Given the description of an element on the screen output the (x, y) to click on. 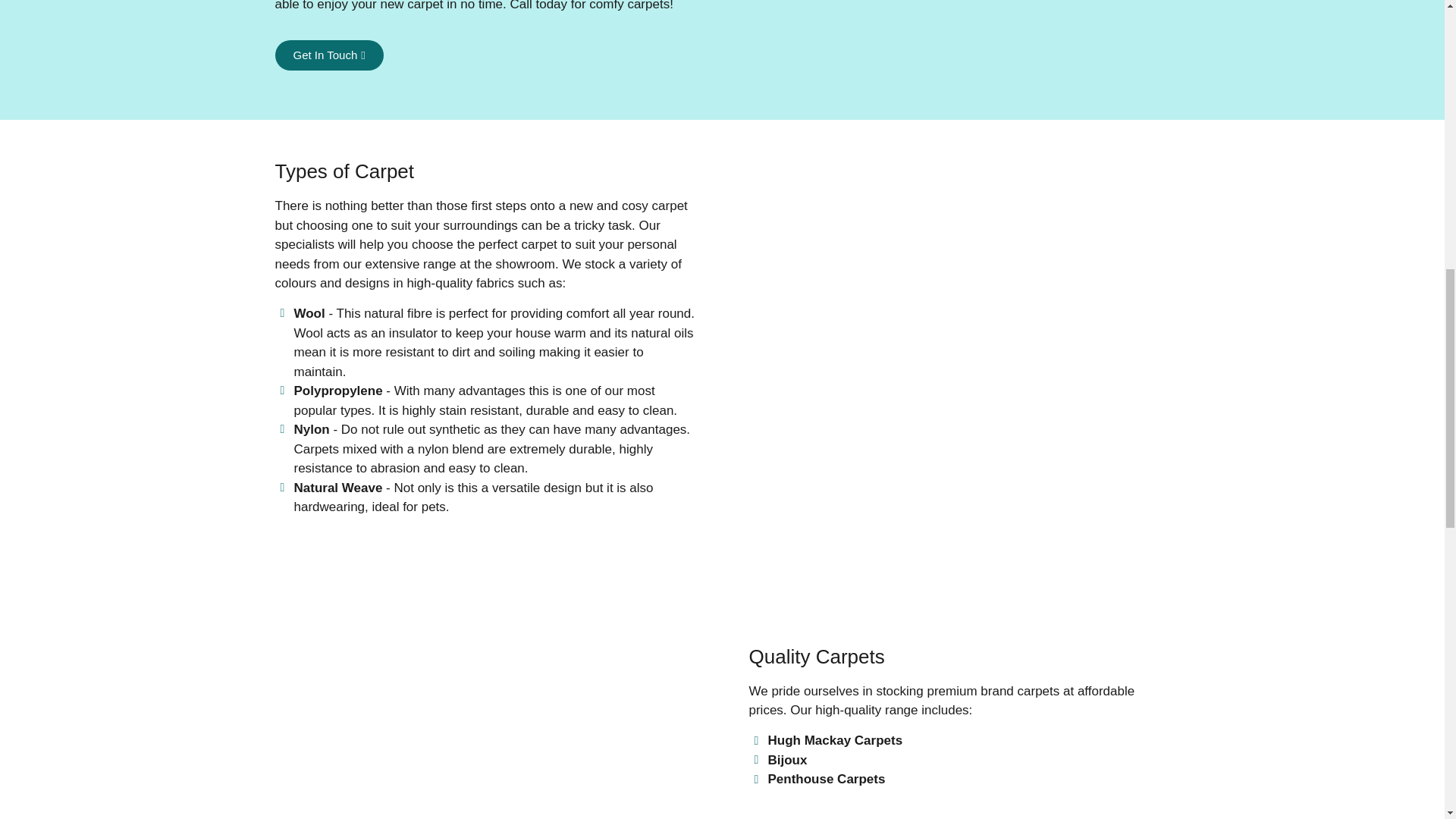
Hugh Mackay Carpets (959, 741)
Get In Touch (328, 55)
Penthouse Carpets (959, 779)
Bijoux (959, 760)
